Given the description of an element on the screen output the (x, y) to click on. 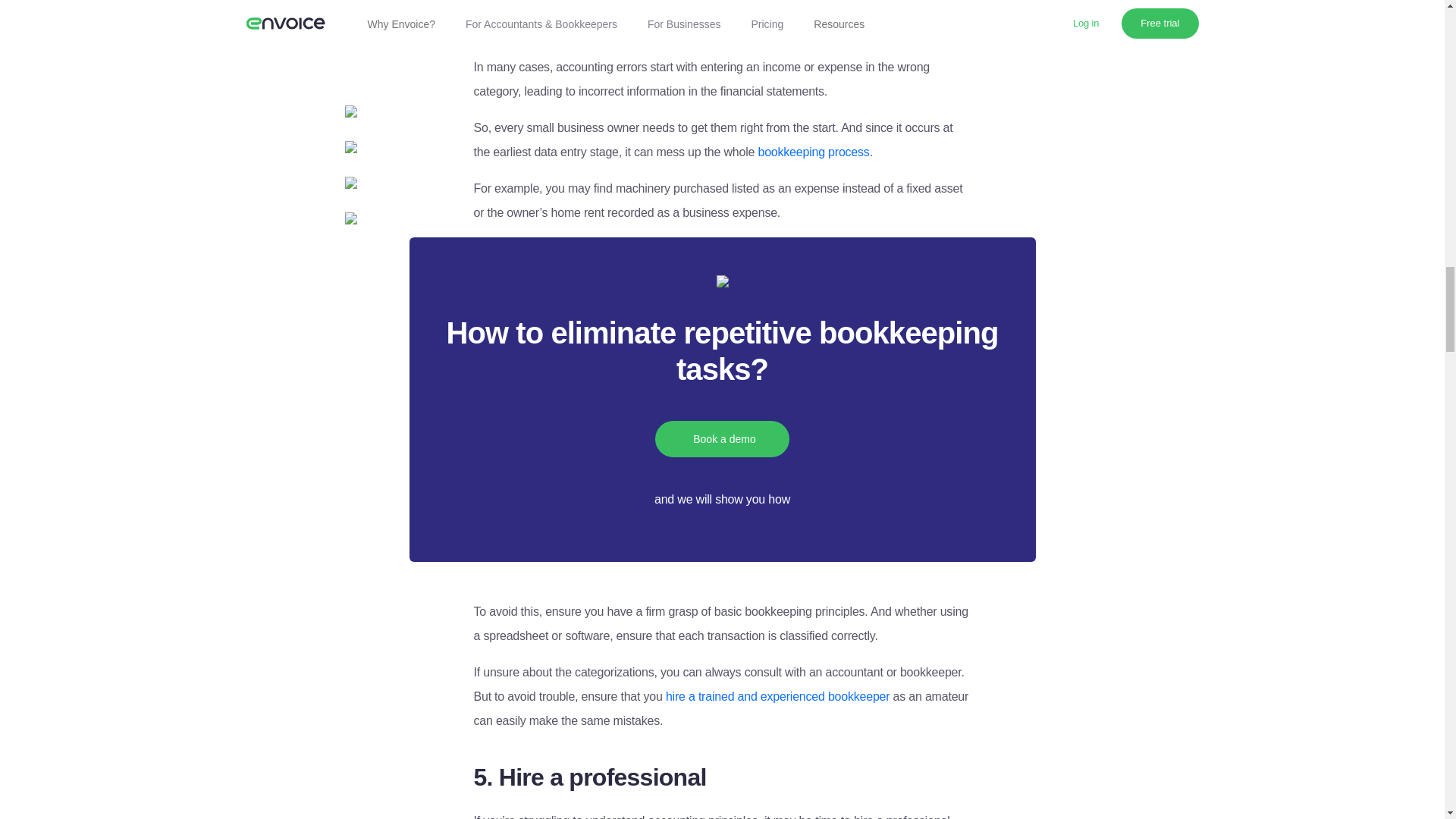
Book a demo (722, 438)
hire a trained and experienced bookkeeper (777, 696)
bookkeeping process (813, 151)
